Given the description of an element on the screen output the (x, y) to click on. 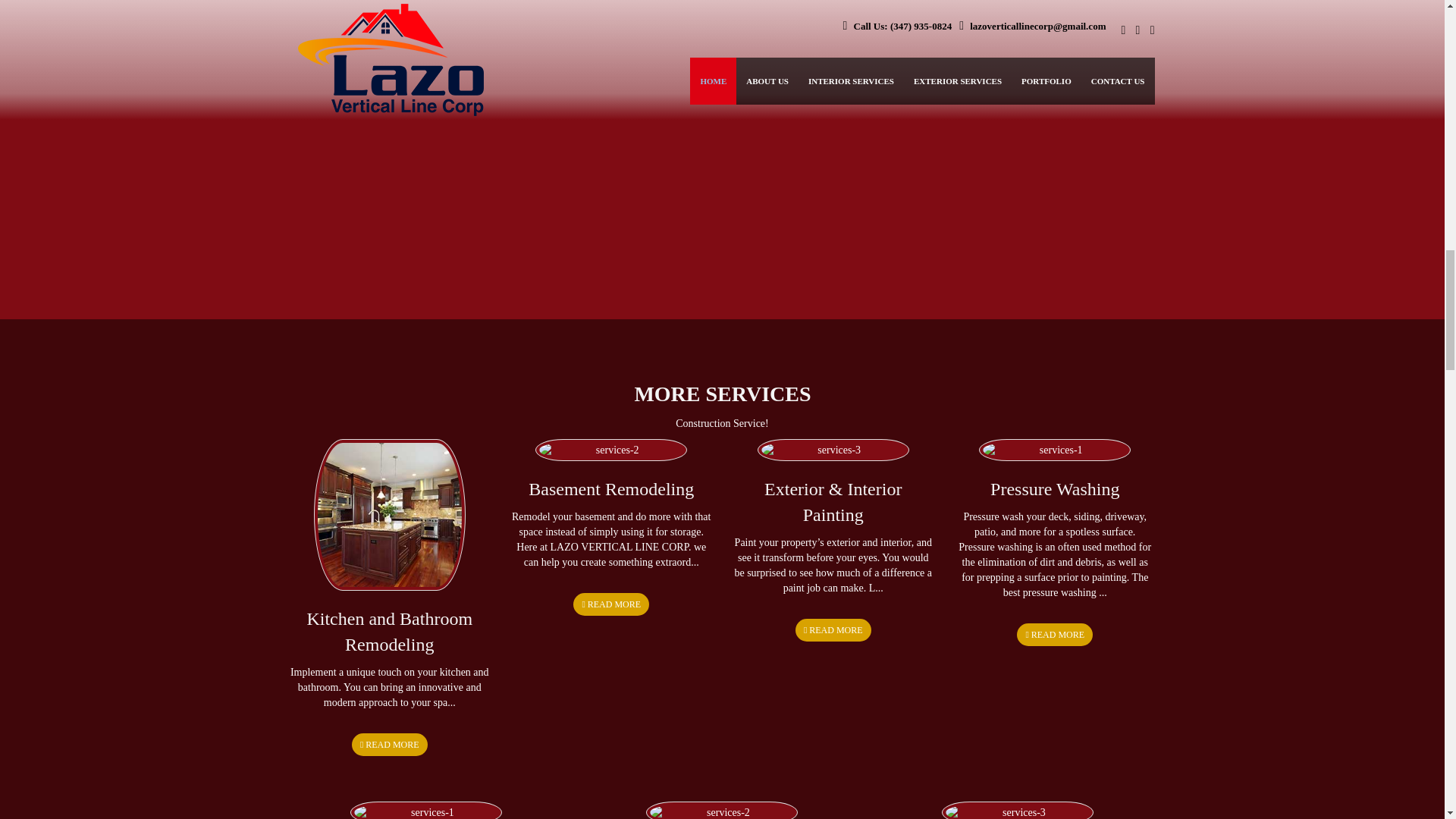
READ MORE (832, 630)
Pressure Washing (1054, 488)
READ MORE (1054, 634)
Kitchen and Bathroom Remodeling (388, 630)
READ MORE (390, 743)
Basement Remodeling (611, 488)
Kitchen and Bathroom Remodeling (388, 630)
READ MORE (611, 603)
read more (390, 743)
Basement Remodeling (611, 488)
